Given the description of an element on the screen output the (x, y) to click on. 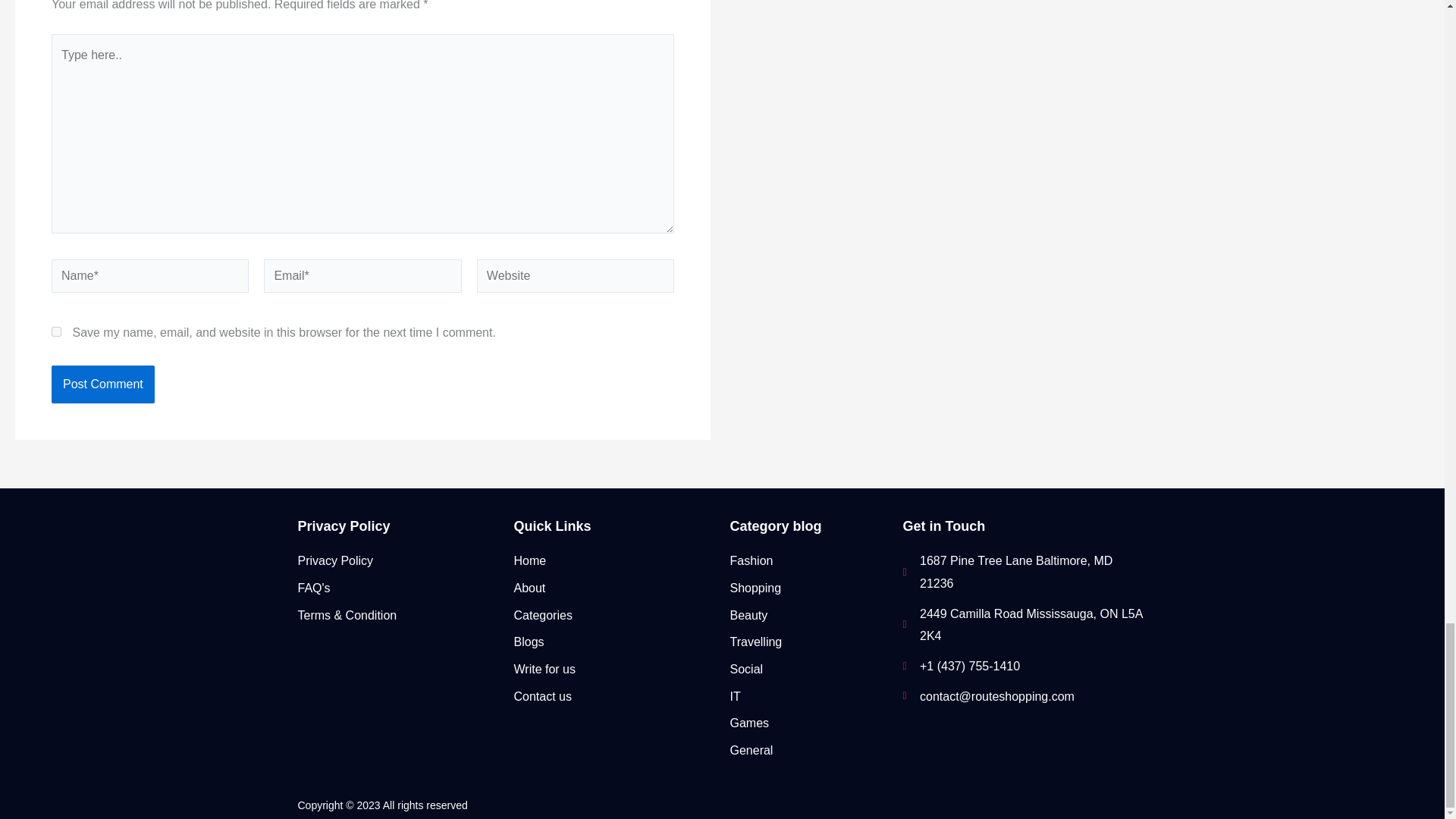
yes (55, 331)
Post Comment (102, 384)
Post Comment (102, 384)
